Given the description of an element on the screen output the (x, y) to click on. 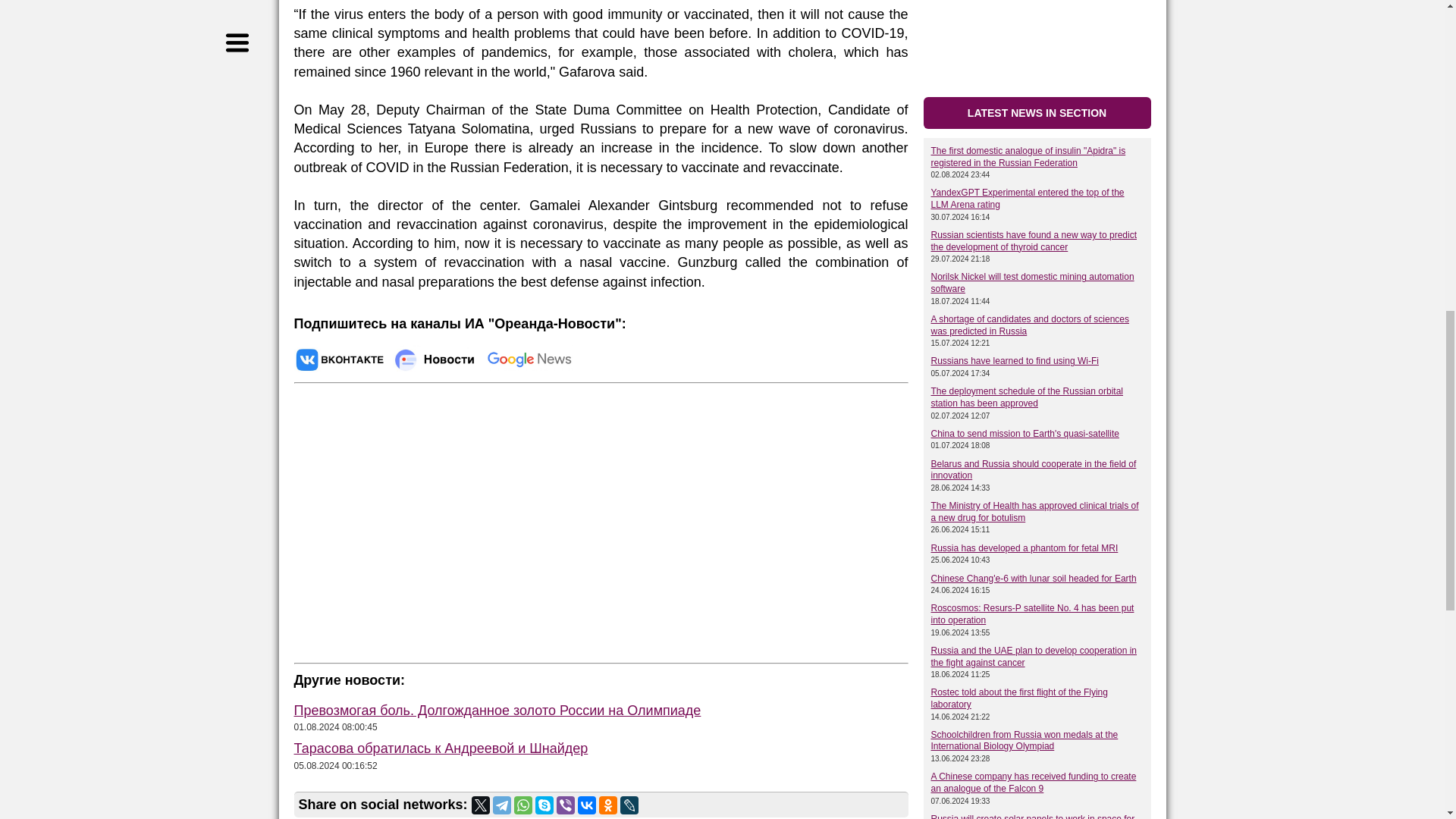
Telegram (502, 805)
Twitter (480, 805)
Viber (565, 805)
LiveJournal (629, 805)
WhatsApp (522, 805)
Skype (544, 805)
